Given the description of an element on the screen output the (x, y) to click on. 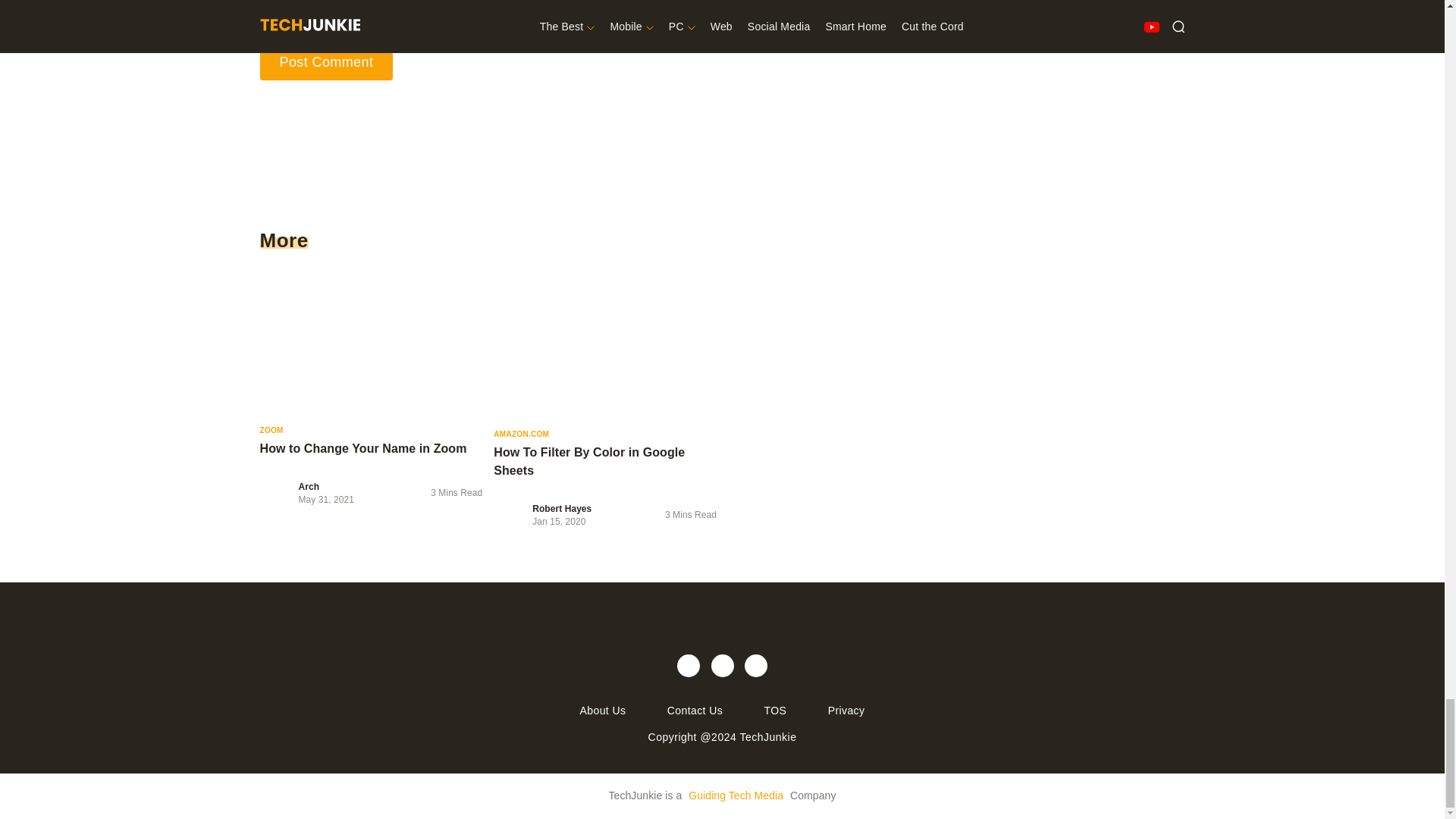
Tech Junkie (721, 620)
Post Comment (326, 62)
